Given the description of an element on the screen output the (x, y) to click on. 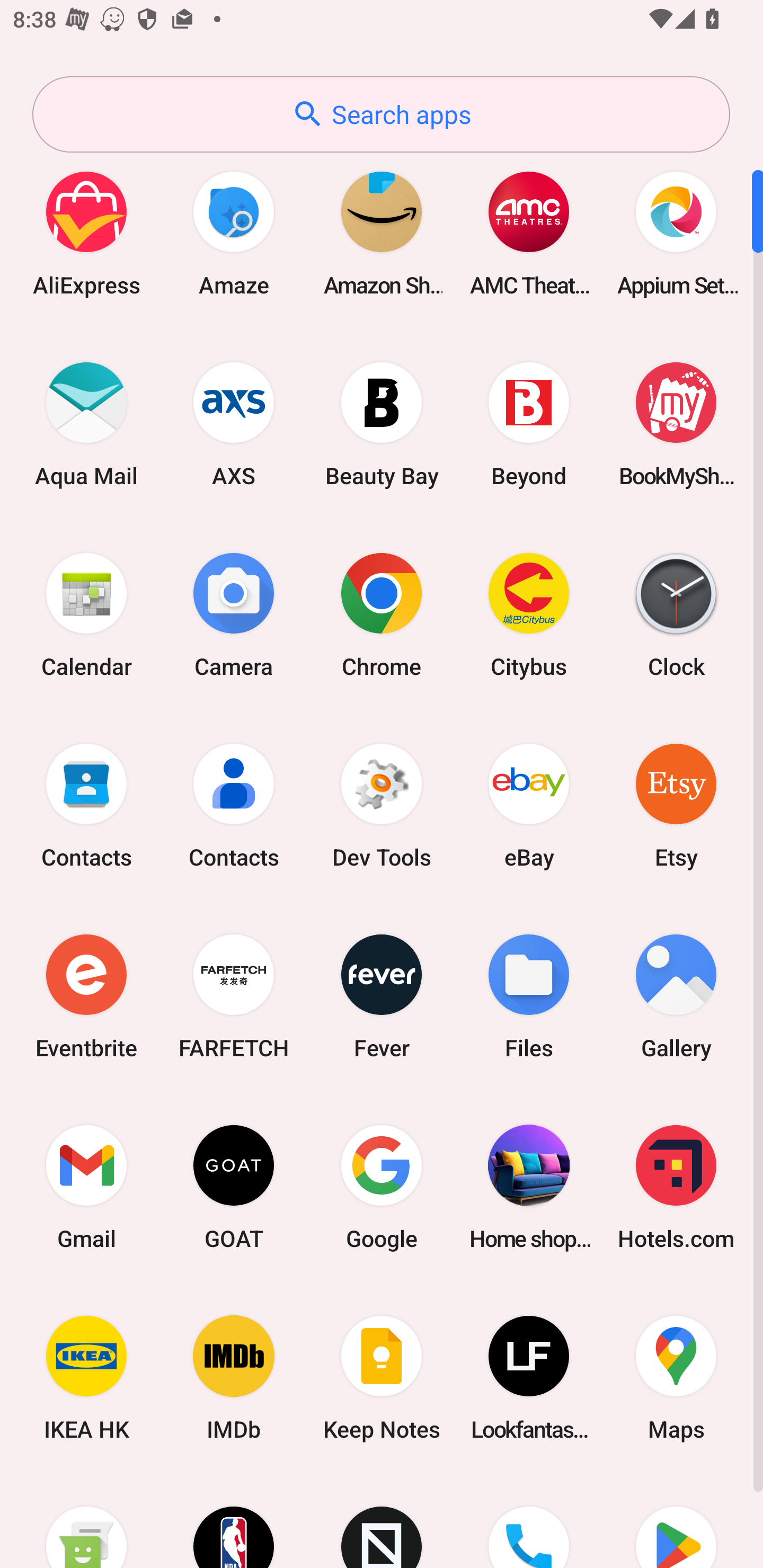
  Search apps (381, 114)
AliExpress (86, 233)
Amaze (233, 233)
Amazon Shopping (381, 233)
AMC Theatres (528, 233)
Appium Settings (676, 233)
Aqua Mail (86, 424)
AXS (233, 424)
Beauty Bay (381, 424)
Beyond (528, 424)
BookMyShow (676, 424)
Calendar (86, 614)
Camera (233, 614)
Chrome (381, 614)
Citybus (528, 614)
Clock (676, 614)
Contacts (86, 805)
Contacts (233, 805)
Dev Tools (381, 805)
eBay (528, 805)
Etsy (676, 805)
Eventbrite (86, 996)
FARFETCH (233, 996)
Fever (381, 996)
Files (528, 996)
Gallery (676, 996)
Gmail (86, 1186)
GOAT (233, 1186)
Google (381, 1186)
Home shopping (528, 1186)
Hotels.com (676, 1186)
IKEA HK (86, 1377)
IMDb (233, 1377)
Keep Notes (381, 1377)
Lookfantastic (528, 1377)
Maps (676, 1377)
Messaging (86, 1520)
NBA (233, 1520)
Novelship (381, 1520)
Phone (528, 1520)
Play Store (676, 1520)
